Given the description of an element on the screen output the (x, y) to click on. 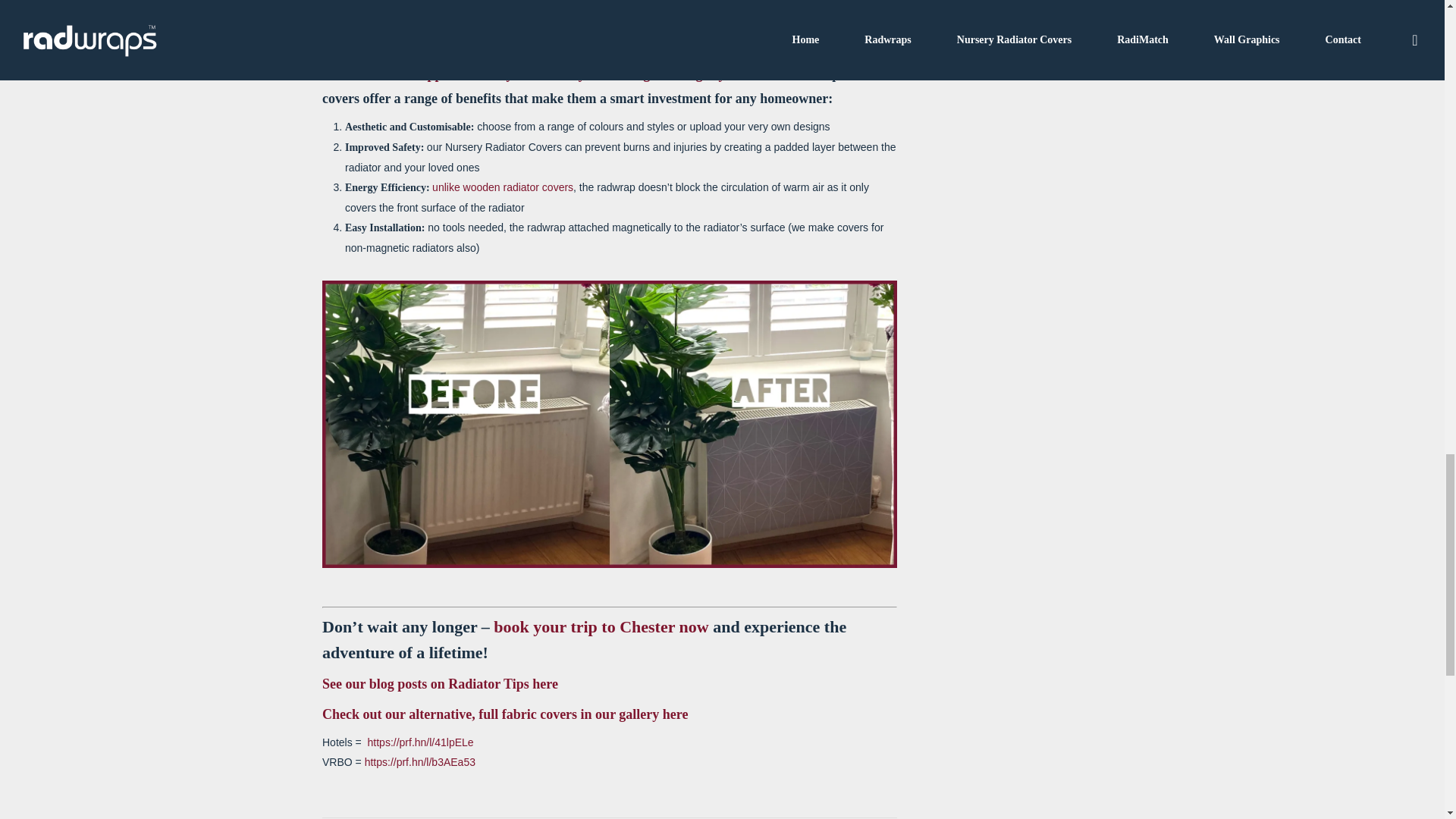
unlike wooden radiator covers (502, 186)
See our blog posts on Radiator Tips here (439, 683)
book your trip to Chester now (600, 626)
